Given the description of an element on the screen output the (x, y) to click on. 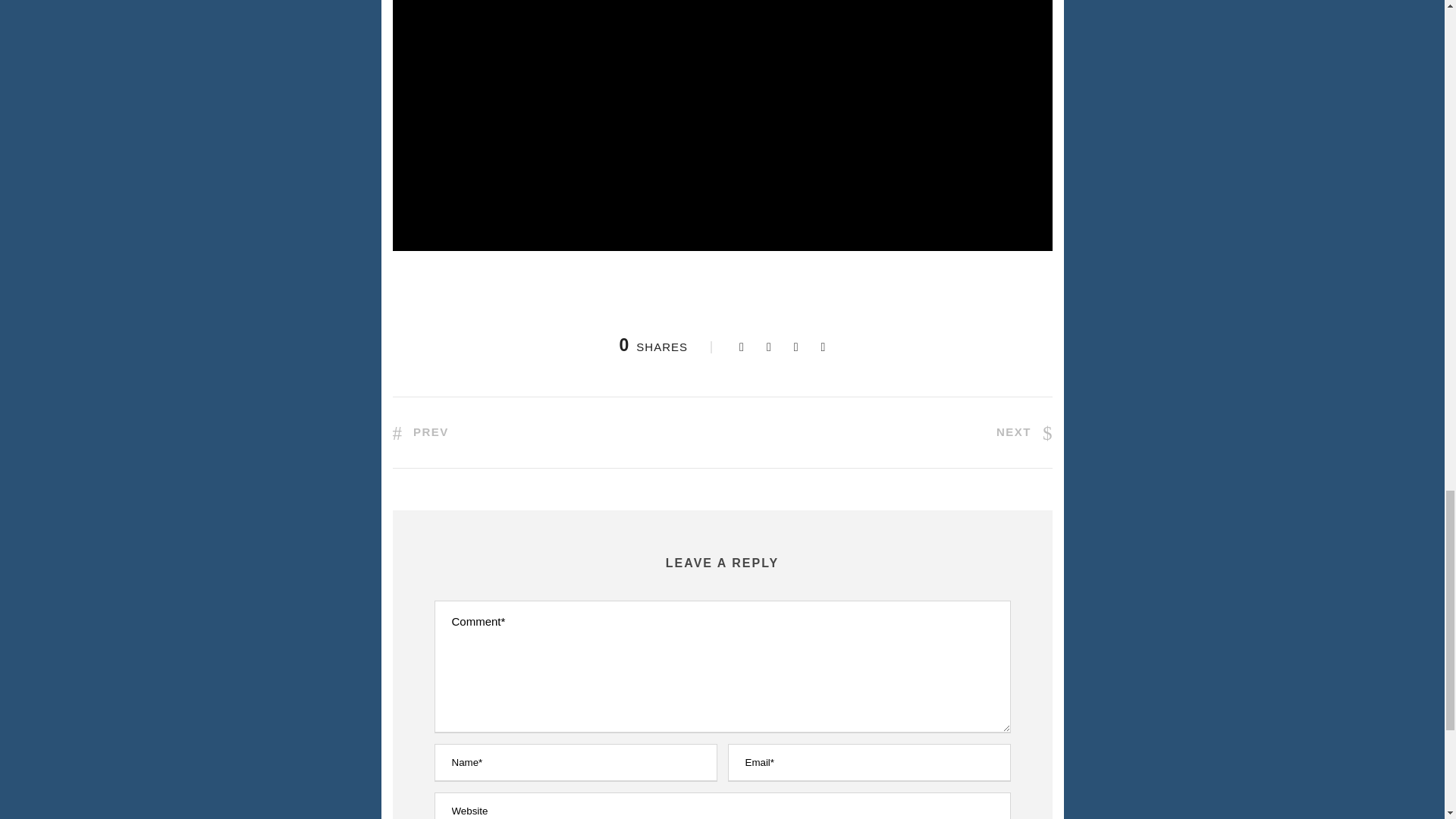
PREV (420, 431)
NEXT (1023, 431)
